Given the description of an element on the screen output the (x, y) to click on. 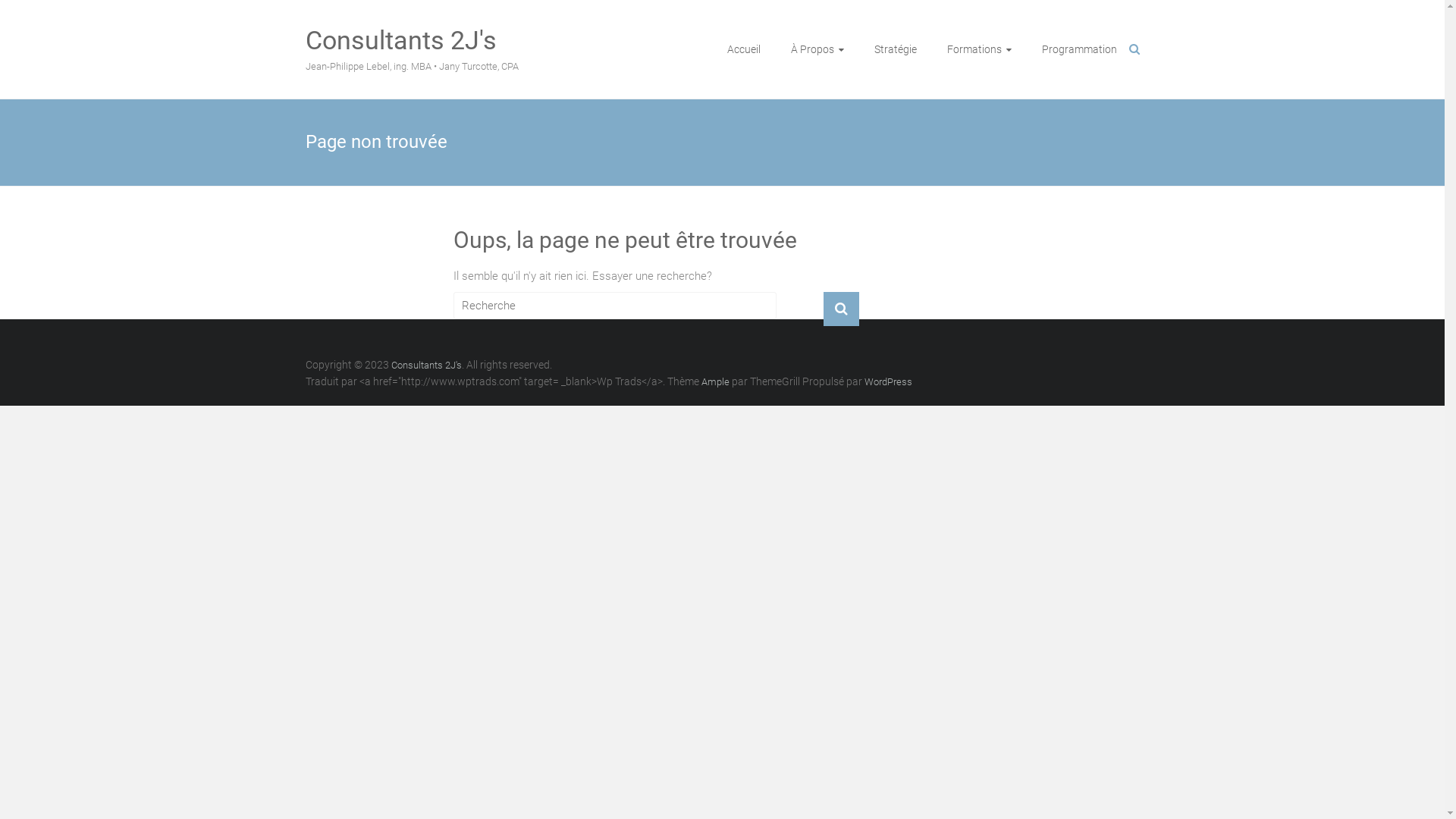
WordPress Element type: text (888, 381)
Consultants 2J's Element type: text (426, 364)
Programmation Element type: text (1079, 48)
Consultants 2J's Element type: text (399, 40)
Formations Element type: text (978, 48)
Ample Element type: text (714, 381)
Accueil Element type: text (742, 48)
